Given the description of an element on the screen output the (x, y) to click on. 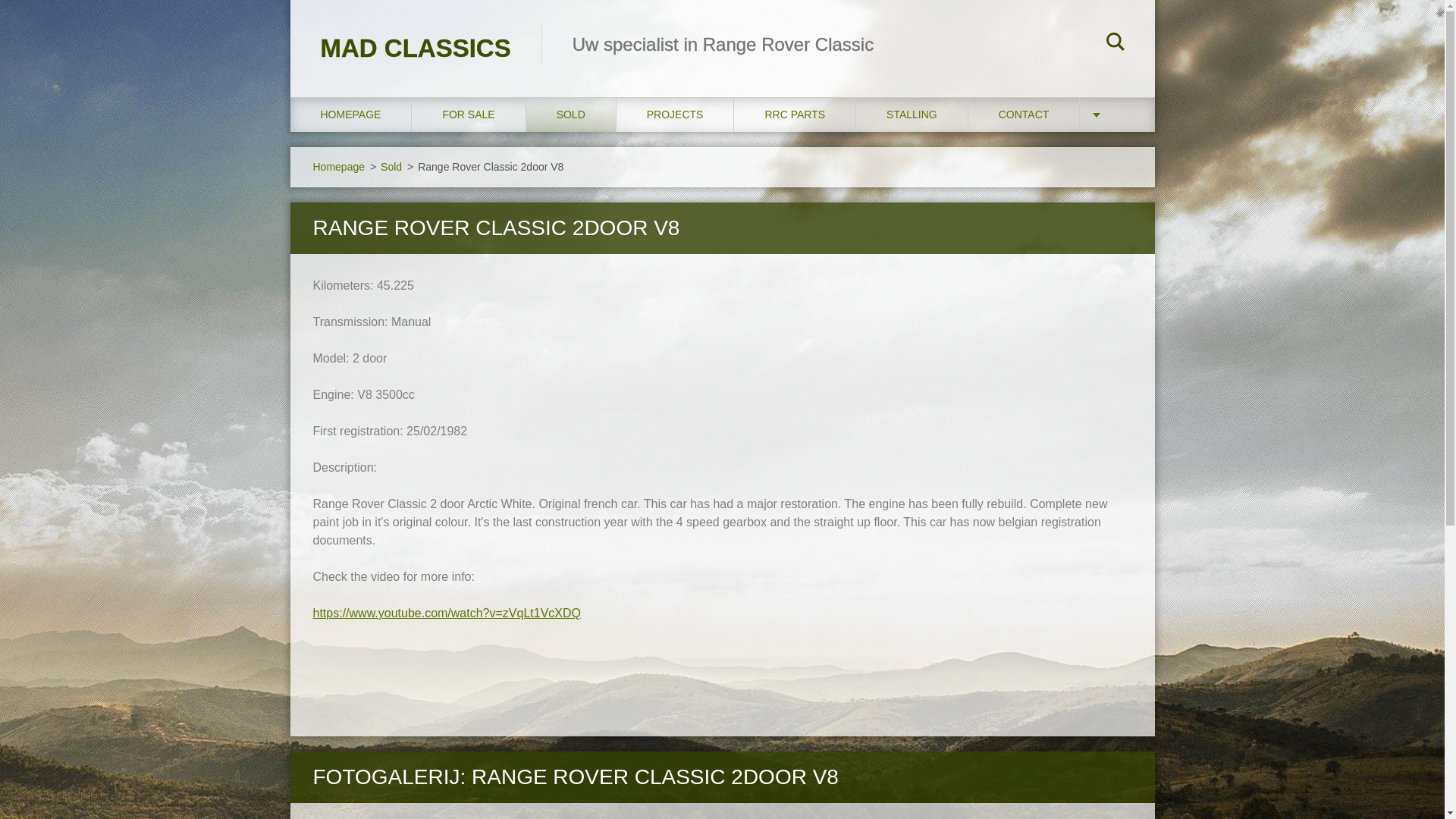
FOR SALE (468, 114)
Ga naar homepagina (414, 33)
SOLD (570, 114)
HOMEPAGE (350, 114)
MAD CLASSICS (414, 33)
